Given the description of an element on the screen output the (x, y) to click on. 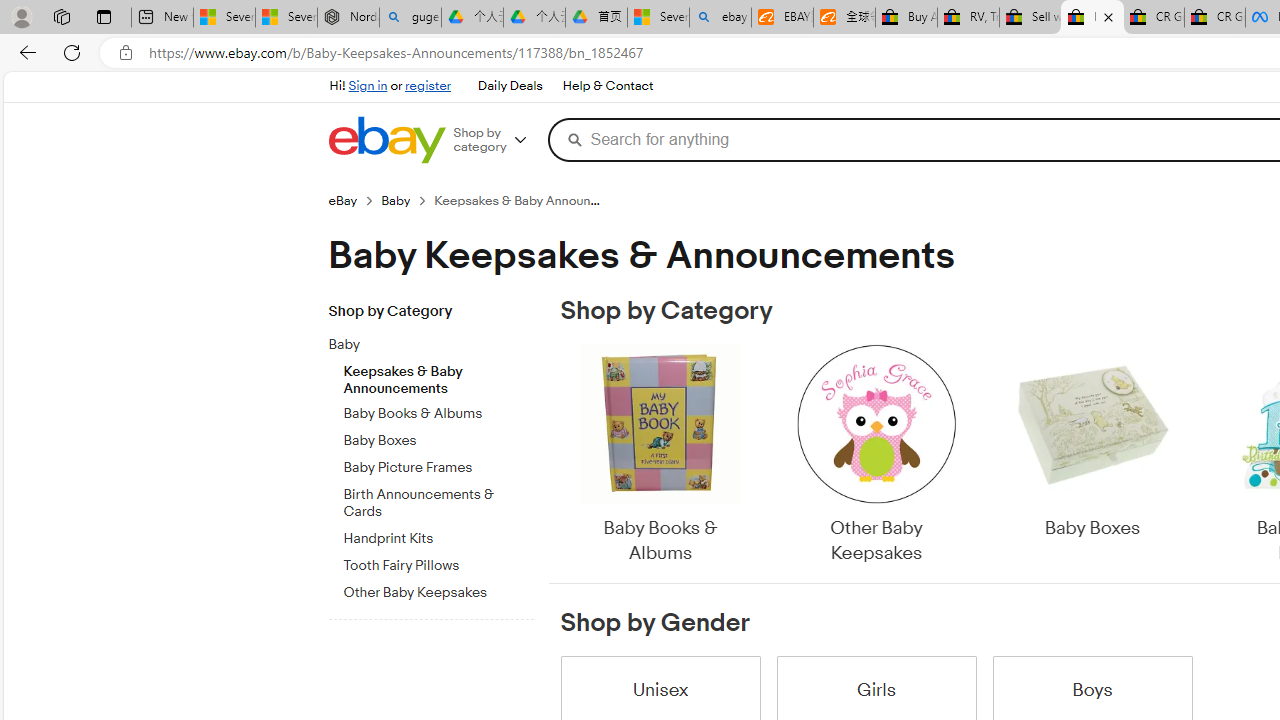
Tooth Fairy Pillows (438, 562)
Birth Announcements & Cards (438, 500)
Other Baby Keepsakes (875, 455)
Tooth Fairy Pillows (438, 566)
Sign in (367, 85)
eBay Home (386, 139)
Daily Deals (509, 85)
Daily Deals (509, 86)
eBay Home (386, 139)
Shop by category (496, 140)
Baby (438, 341)
eBay (342, 200)
